Given the description of an element on the screen output the (x, y) to click on. 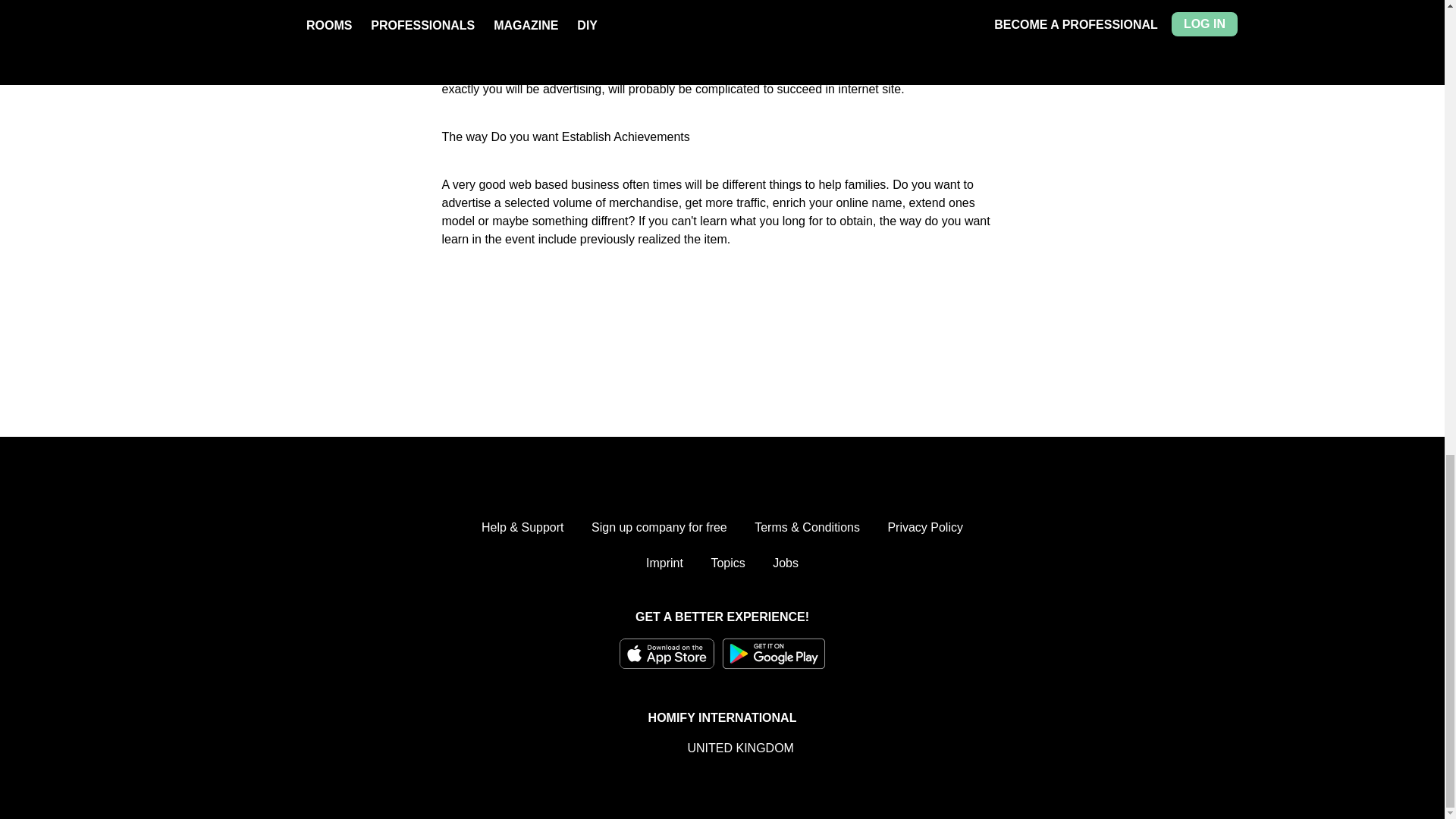
Jobs (785, 563)
Imprint (664, 563)
Topics (727, 563)
Privacy Policy (924, 527)
Sign up company for free (658, 527)
